Given the description of an element on the screen output the (x, y) to click on. 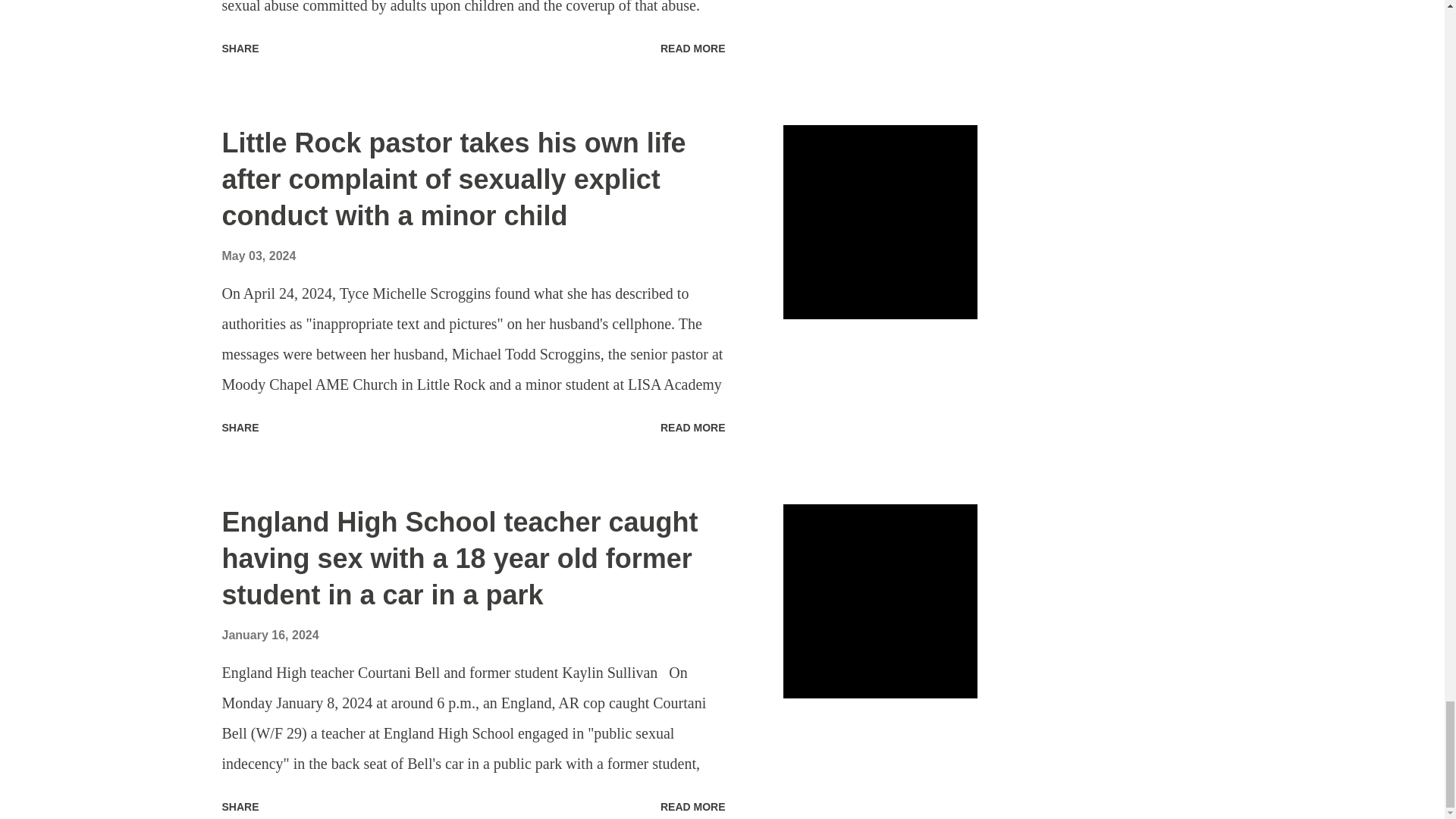
SHARE (239, 427)
SHARE (239, 48)
READ MORE (692, 427)
May 03, 2024 (258, 255)
READ MORE (692, 48)
